Given the description of an element on the screen output the (x, y) to click on. 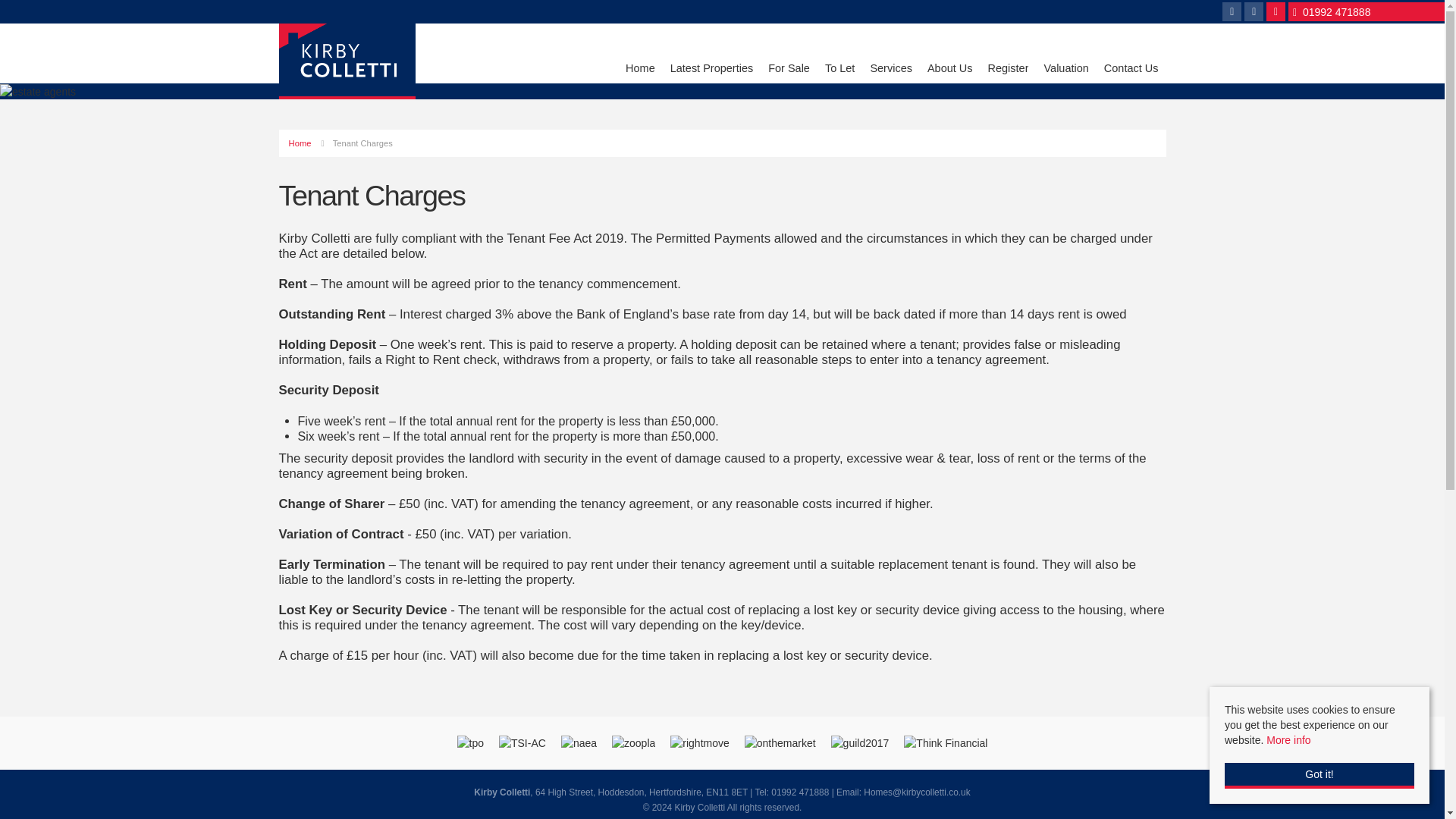
Latest Properties (711, 71)
Services (890, 71)
Register (1008, 71)
To Let (839, 71)
More info (1288, 739)
Contact Us (1130, 71)
Home (299, 143)
Got it! (1318, 775)
Tenant Charges (363, 143)
For Sale (788, 71)
Home (640, 71)
About Us (949, 71)
Valuation (1065, 71)
